Given the description of an element on the screen output the (x, y) to click on. 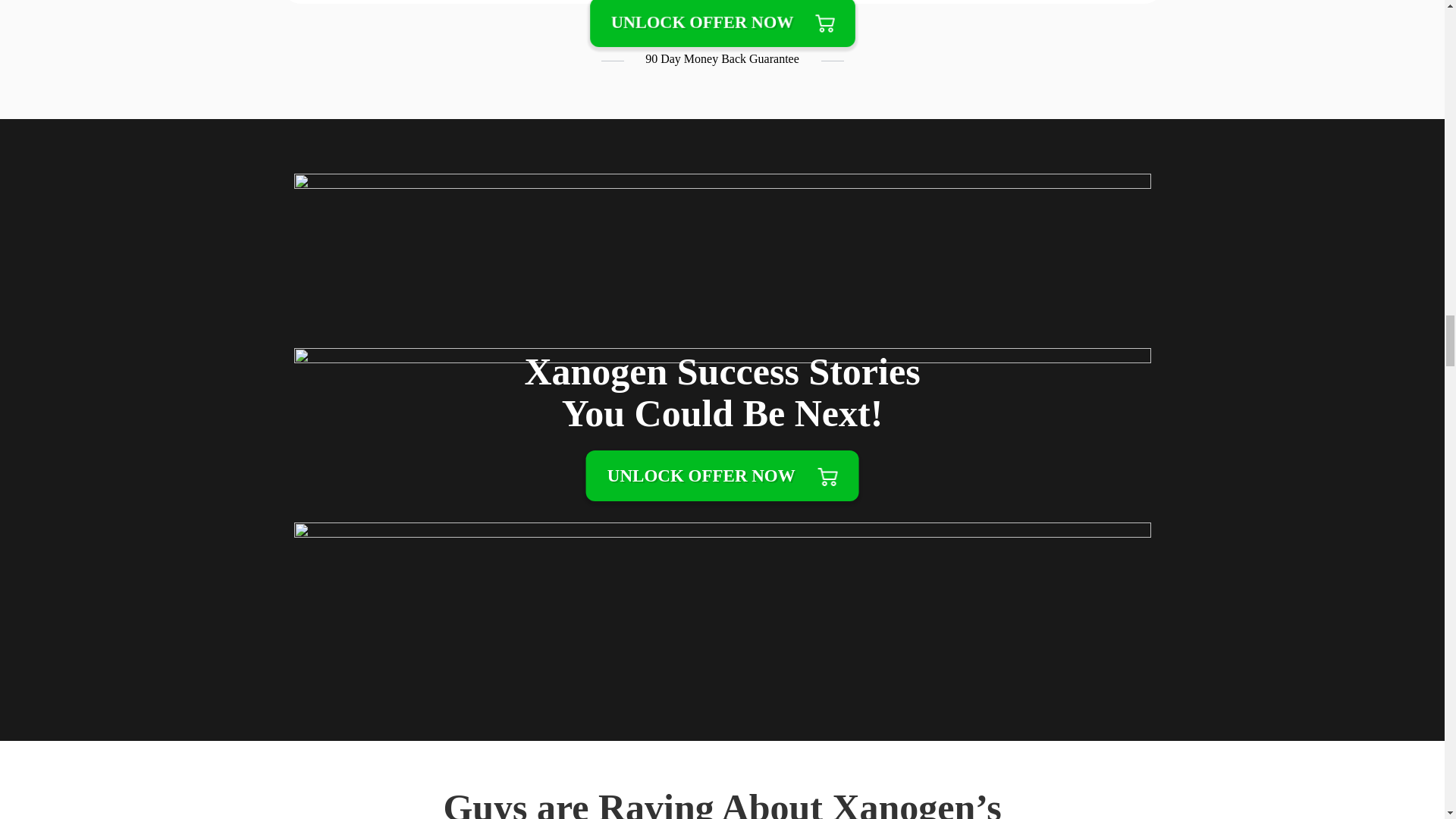
UNLOCK OFFER NOW (723, 23)
UNLOCK OFFER NOW (722, 475)
